Given the description of an element on the screen output the (x, y) to click on. 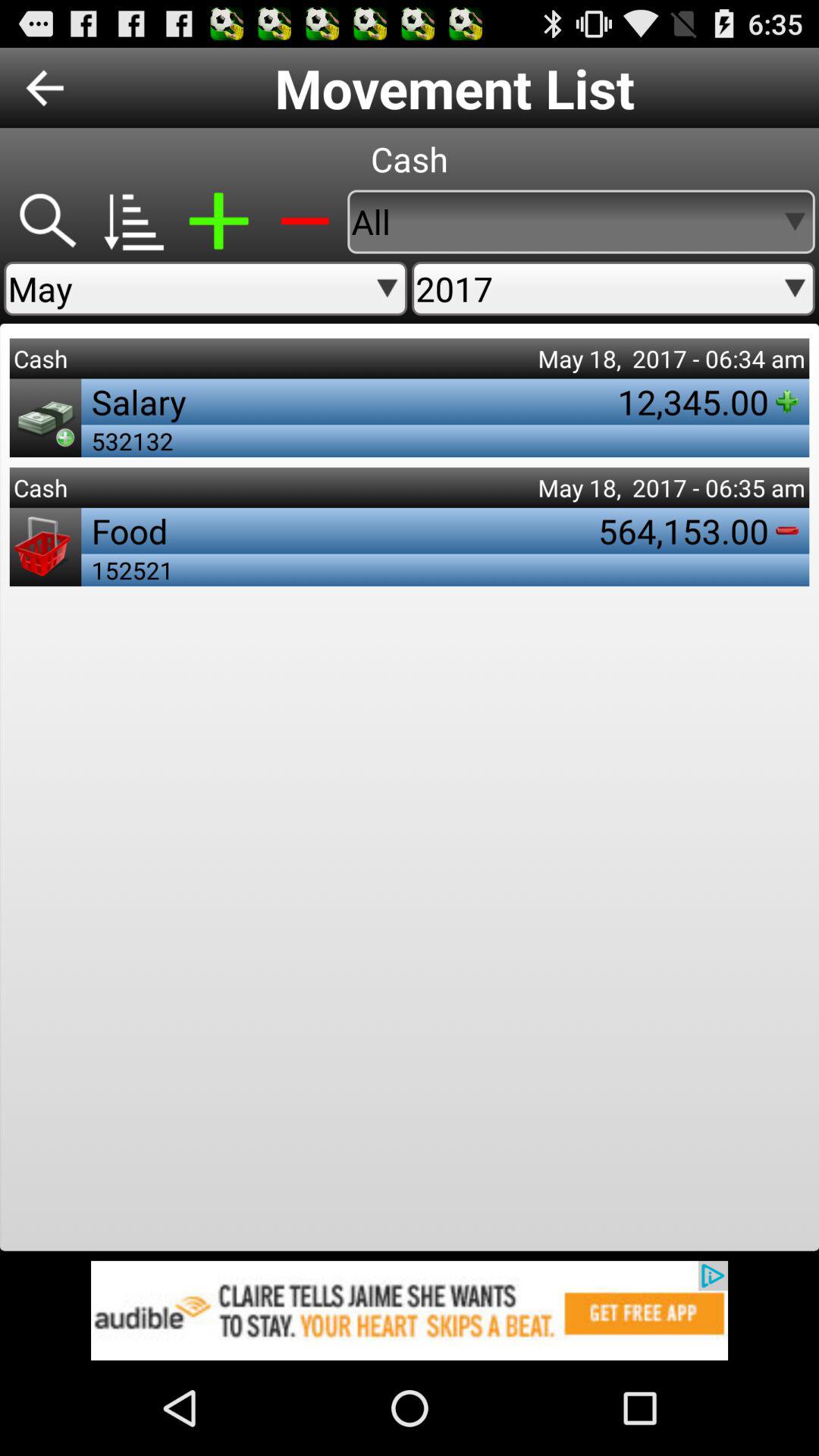
toggle more rows below (132, 221)
